Given the description of an element on the screen output the (x, y) to click on. 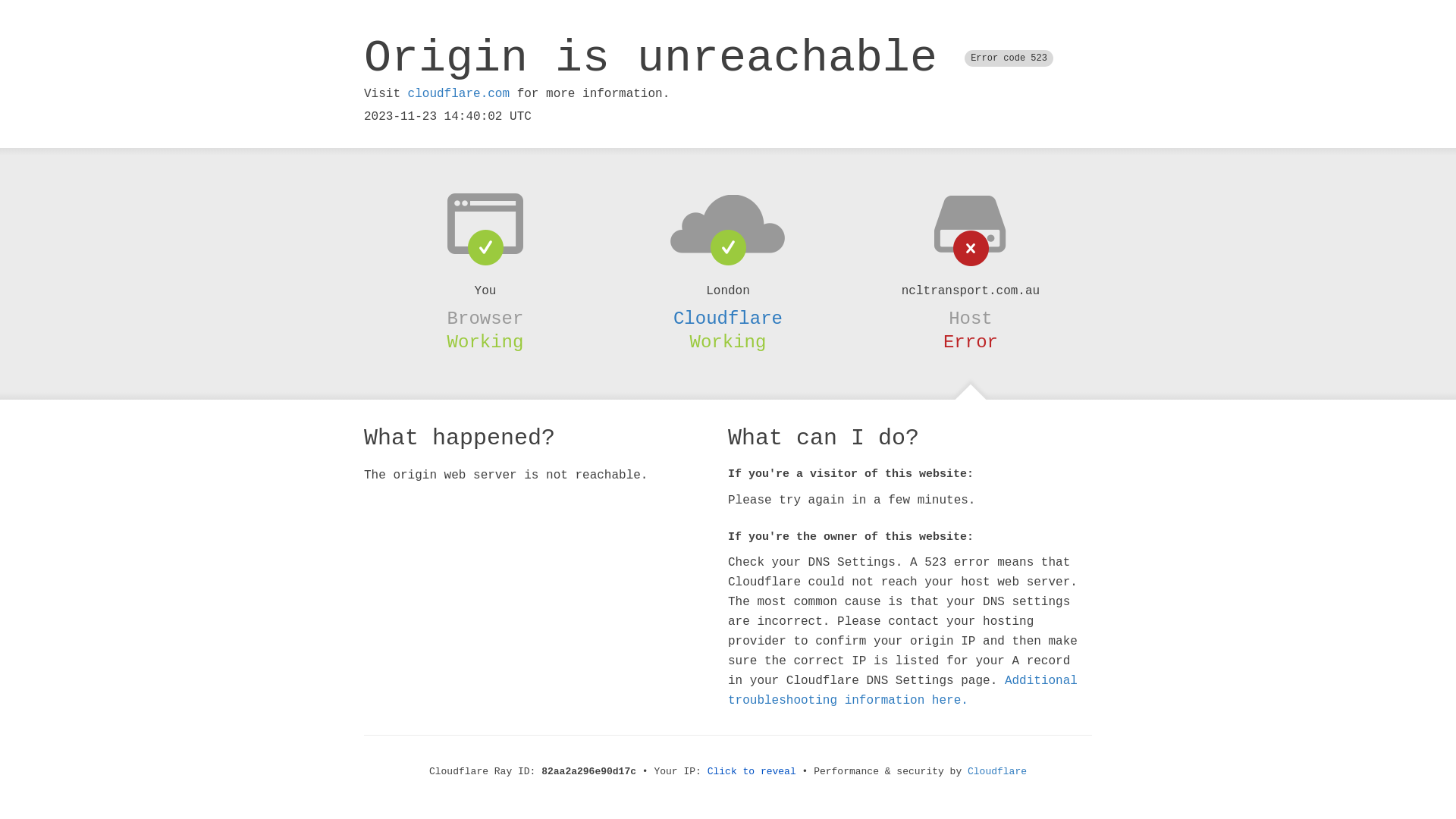
Additional troubleshooting information here. Element type: text (902, 690)
Click to reveal Element type: text (751, 771)
Cloudflare Element type: text (727, 318)
cloudflare.com Element type: text (458, 93)
Cloudflare Element type: text (996, 771)
